Given the description of an element on the screen output the (x, y) to click on. 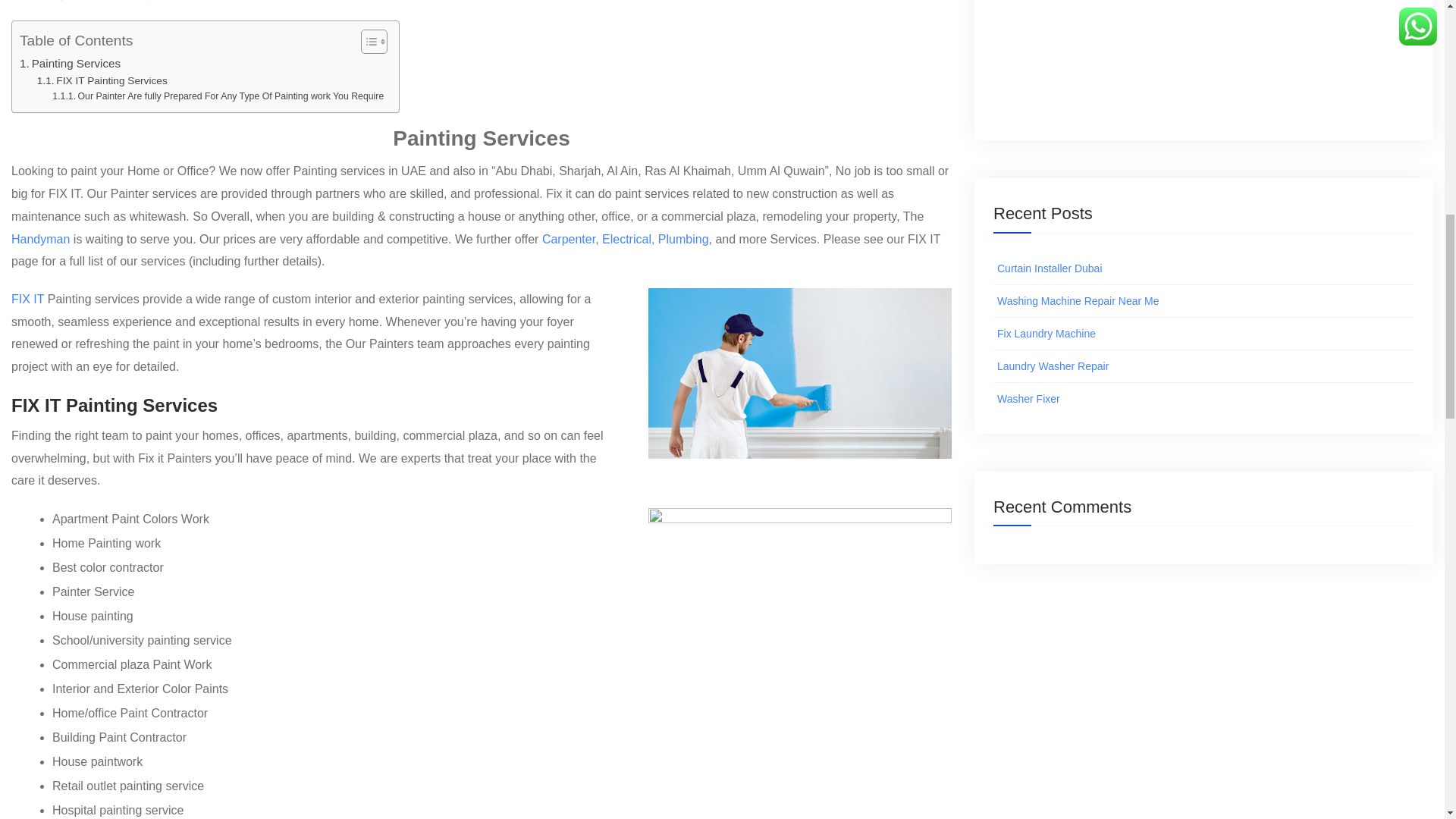
Painting Services (70, 63)
FIX IT Painting Services (102, 80)
